Given the description of an element on the screen output the (x, y) to click on. 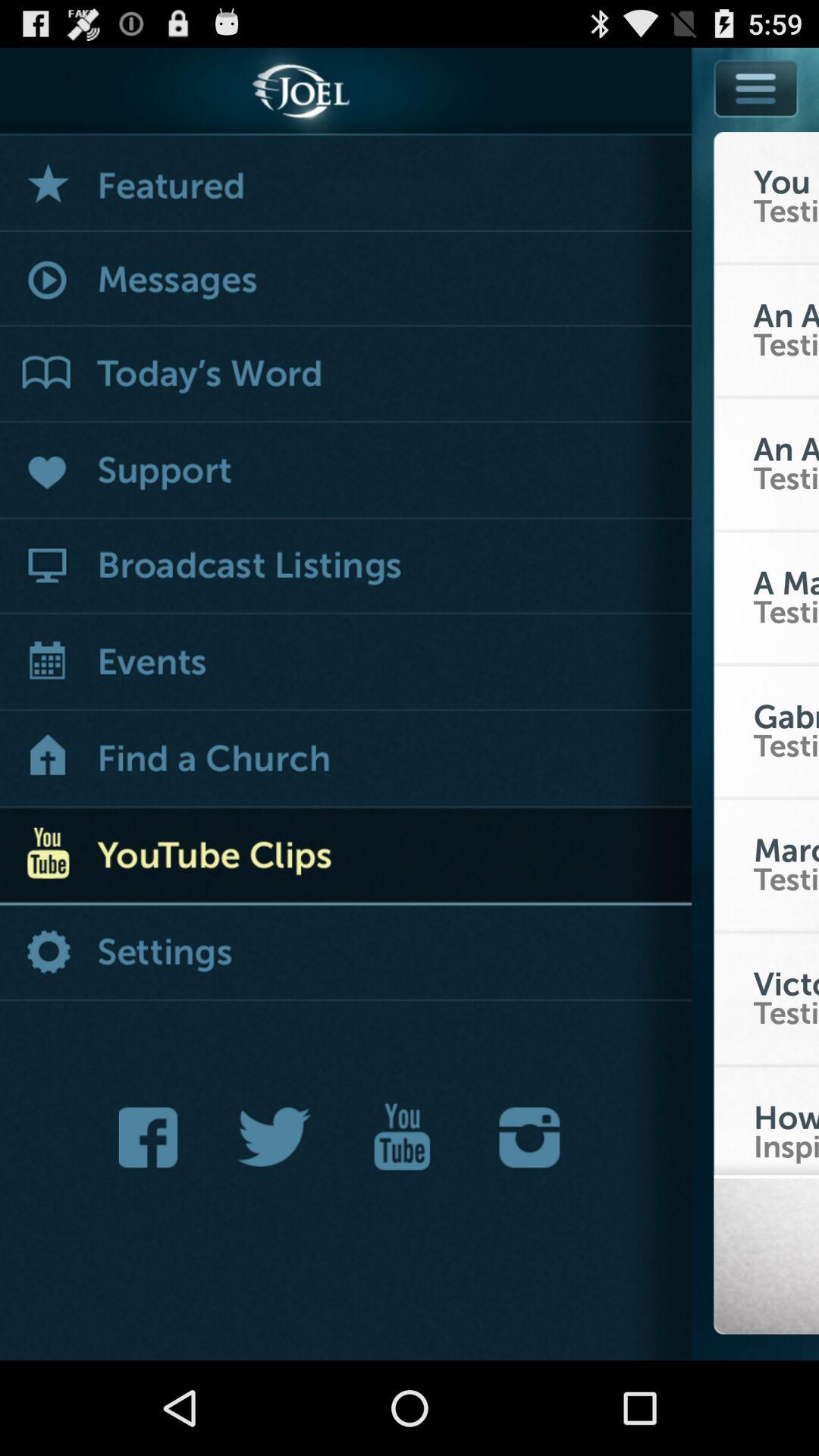
tweet (274, 1137)
